Given the description of an element on the screen output the (x, y) to click on. 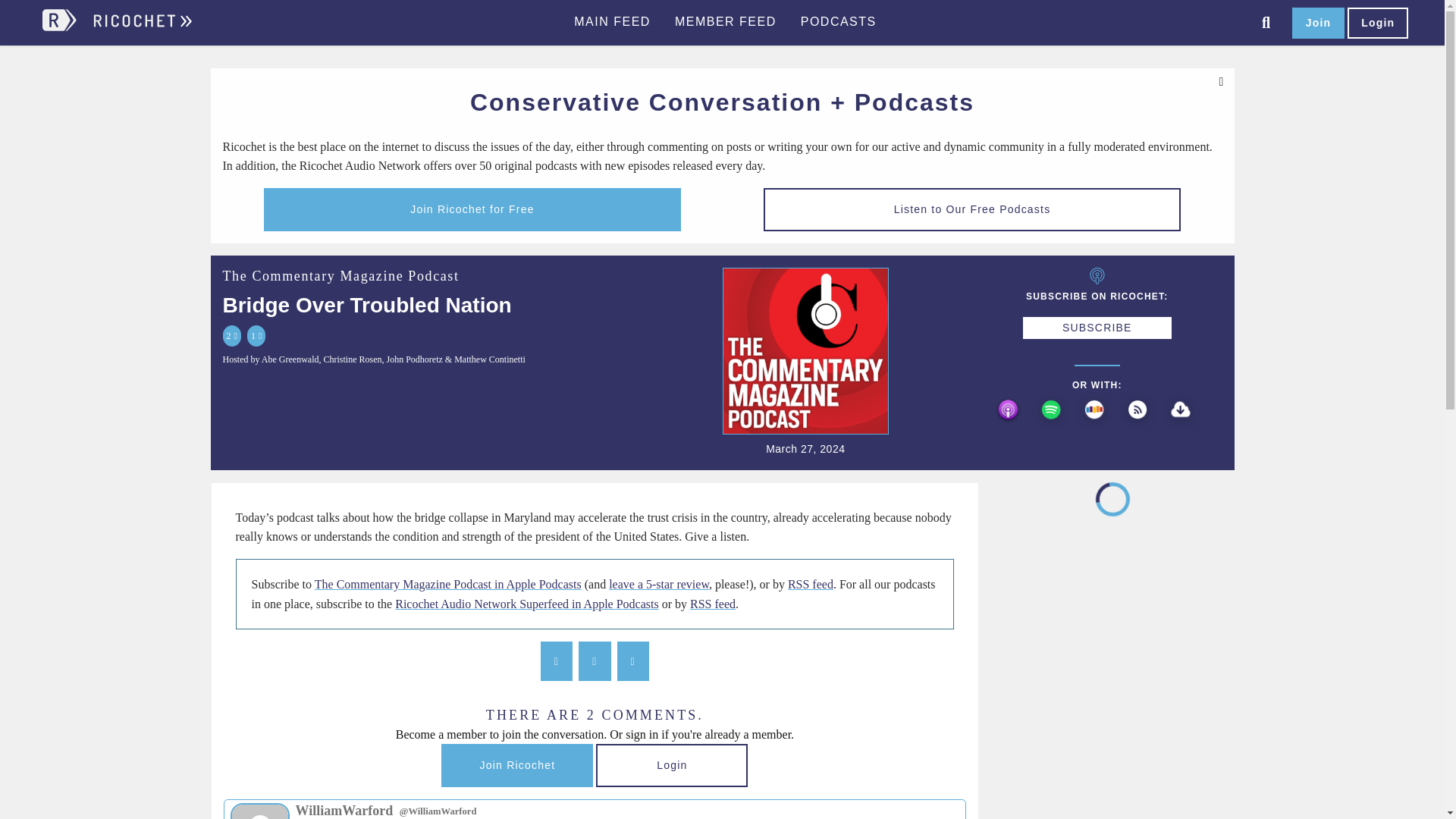
MEMBER FEED (725, 22)
Ricochet Home Page (141, 26)
Download this episode of The Commentary Magazine Podcast (1183, 426)
Subscribe to The Commentary Magazine Podcast through Spotify (1053, 426)
MAIN FEED (611, 22)
PODCASTS (838, 22)
The Commentary Magazine Podcast (341, 275)
WilliamWarford (259, 811)
